Given the description of an element on the screen output the (x, y) to click on. 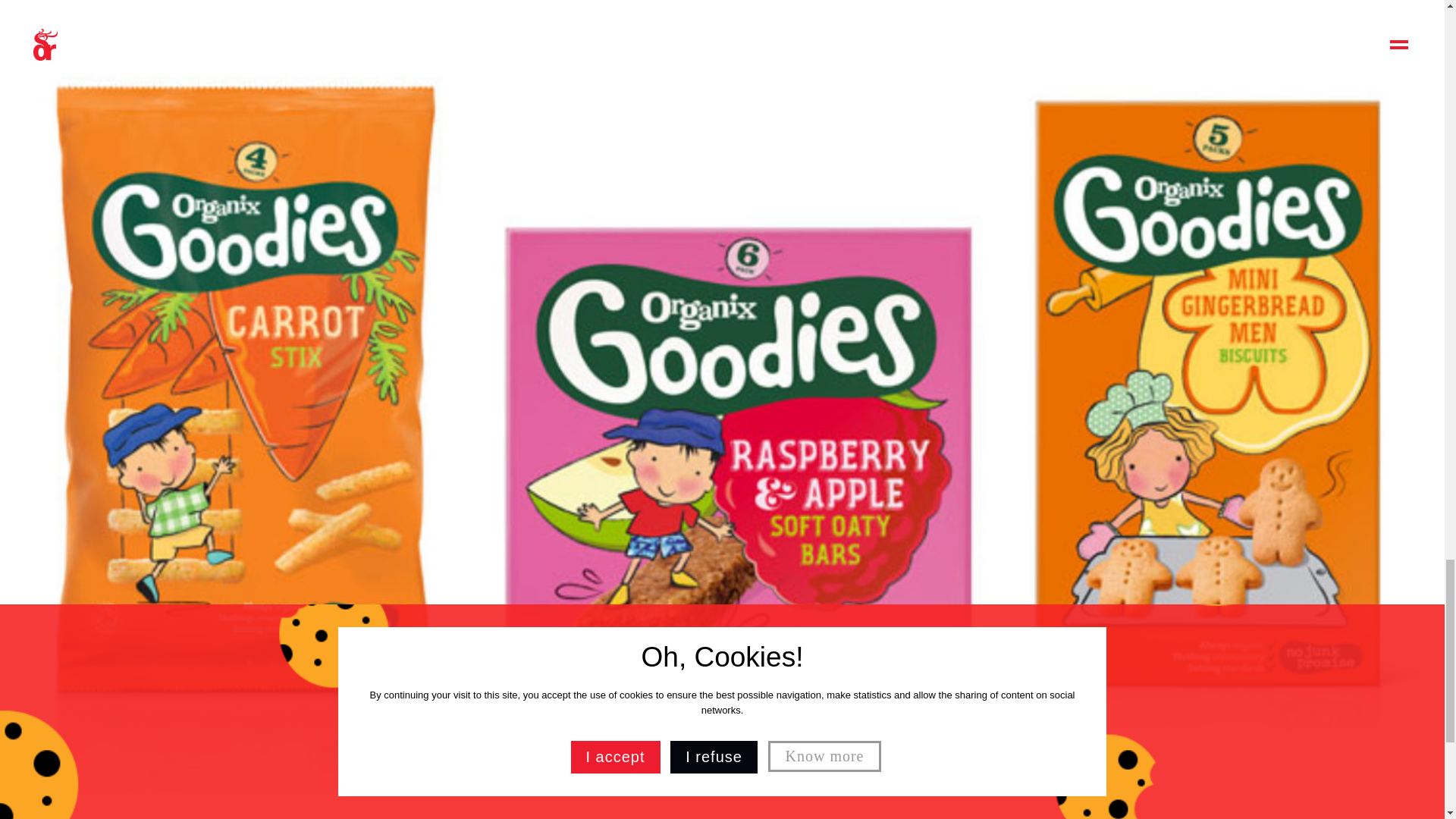
send an email (1196, 479)
send an email (1196, 619)
send an email (880, 479)
send an email (564, 479)
send an email (248, 479)
send an email (564, 647)
send an email (248, 619)
send an email (880, 619)
